Given the description of an element on the screen output the (x, y) to click on. 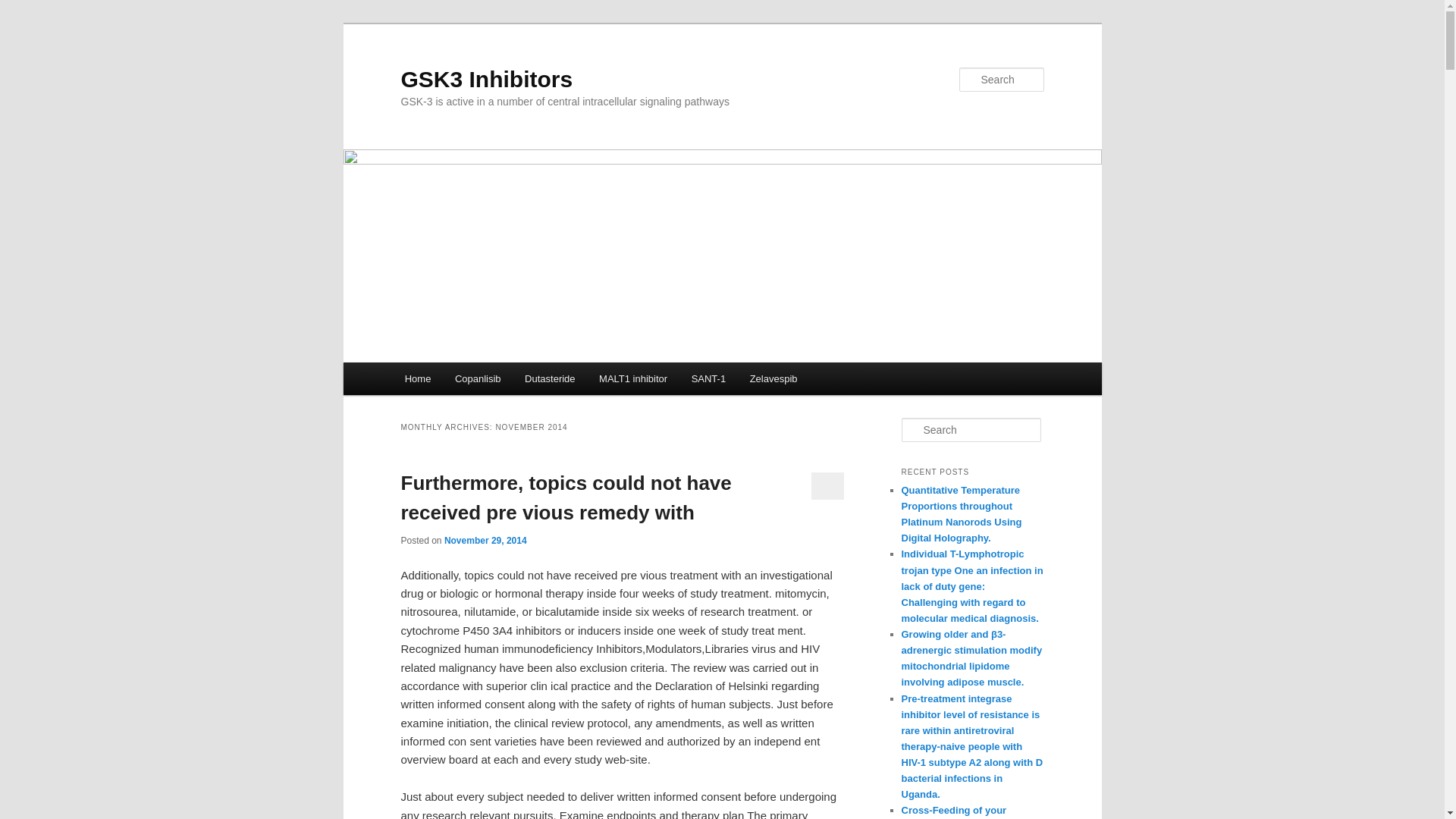
Home (417, 378)
Zelavespib (773, 378)
Skip to primary content (472, 381)
SANT-1 (708, 378)
Skip to primary content (472, 381)
GSK3 Inhibitors (486, 78)
Skip to secondary content (479, 381)
November 29, 2014 (485, 540)
Copanlisib (477, 378)
Skip to secondary content (479, 381)
4:10 am (485, 540)
Dutasteride (549, 378)
GSK3 Inhibitors (486, 78)
